Given the description of an element on the screen output the (x, y) to click on. 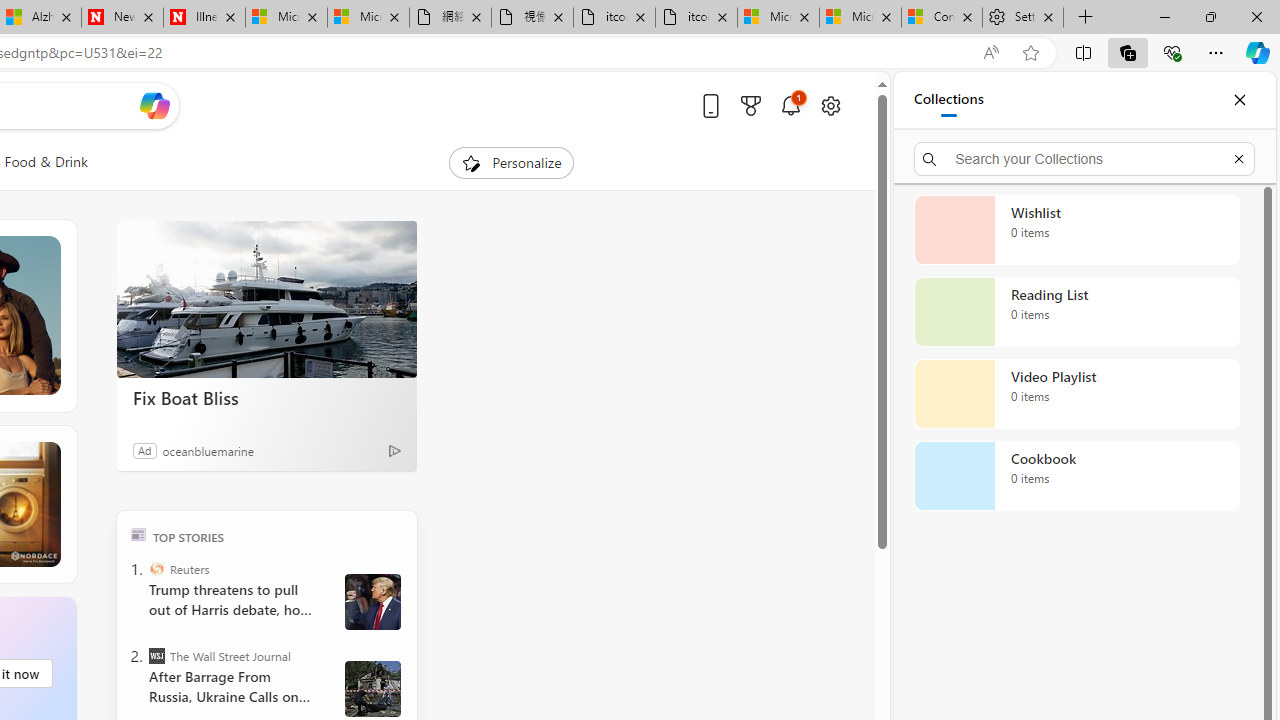
The Wall Street Journal (156, 655)
itconcepthk.com/projector_solutions.mp4 (696, 17)
Consumer Health Data Privacy Policy (941, 17)
Wishlist collection, 0 items (1076, 229)
